Given the description of an element on the screen output the (x, y) to click on. 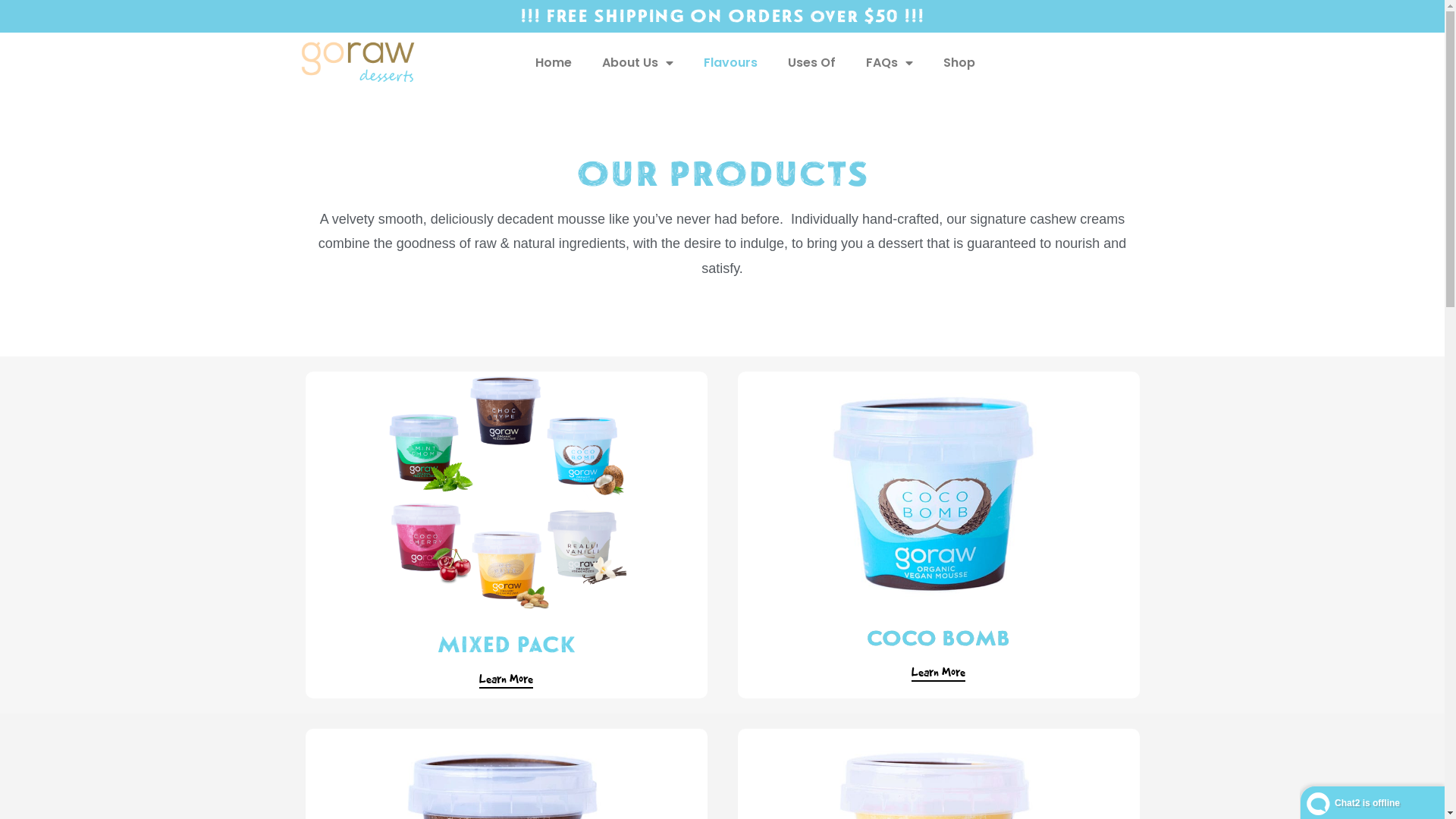
Home Element type: text (553, 62)
FAQs Element type: text (889, 62)
Learn More Element type: text (938, 673)
MIXED PACK Element type: text (505, 644)
Shop Element type: text (959, 62)
Flavours Element type: text (730, 62)
About Us Element type: text (637, 62)
COCO BOMB Element type: text (938, 638)
Uses Of Element type: text (811, 62)
Learn More Element type: text (506, 679)
